Given the description of an element on the screen output the (x, y) to click on. 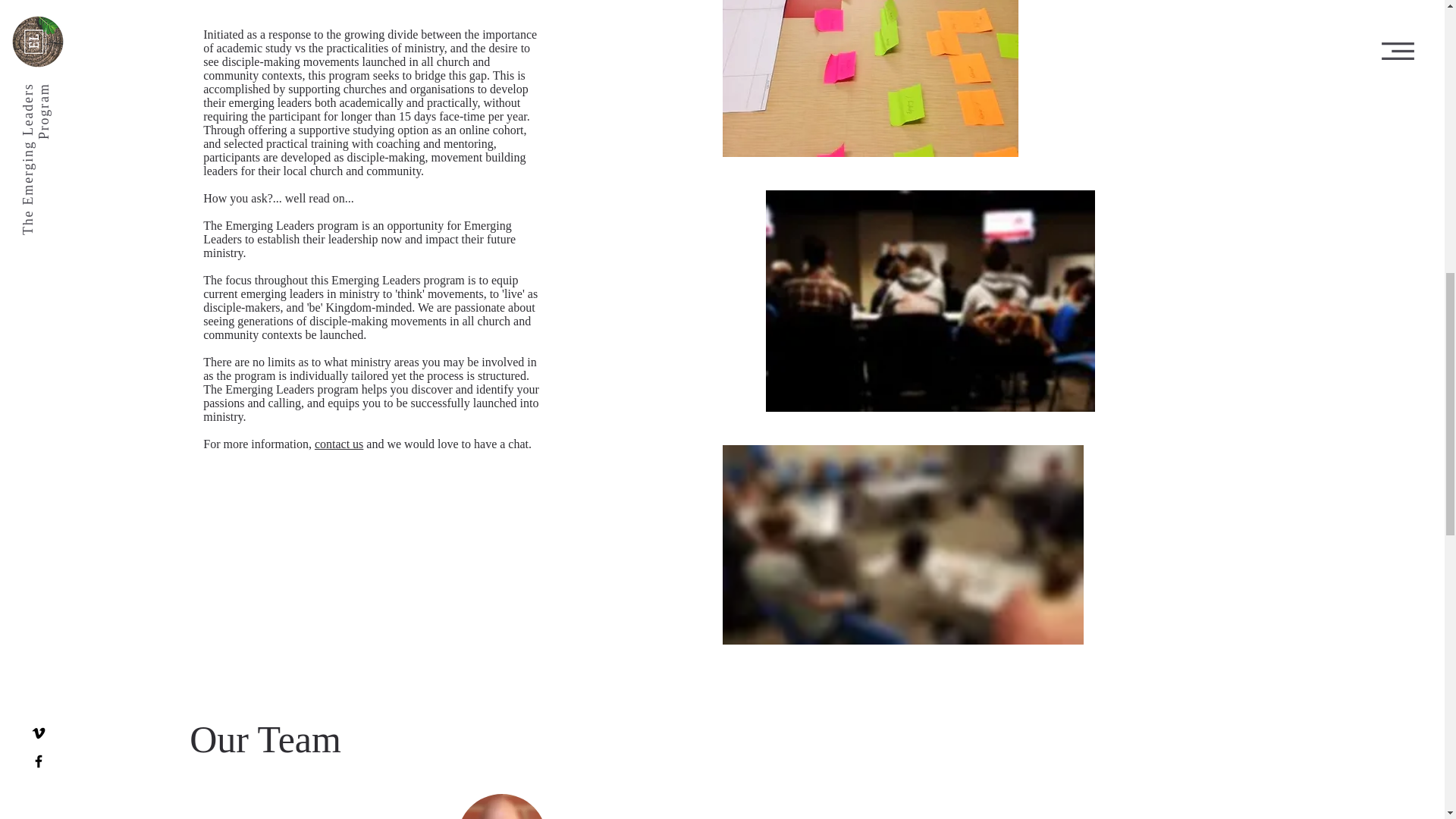
contact us (338, 443)
